Given the description of an element on the screen output the (x, y) to click on. 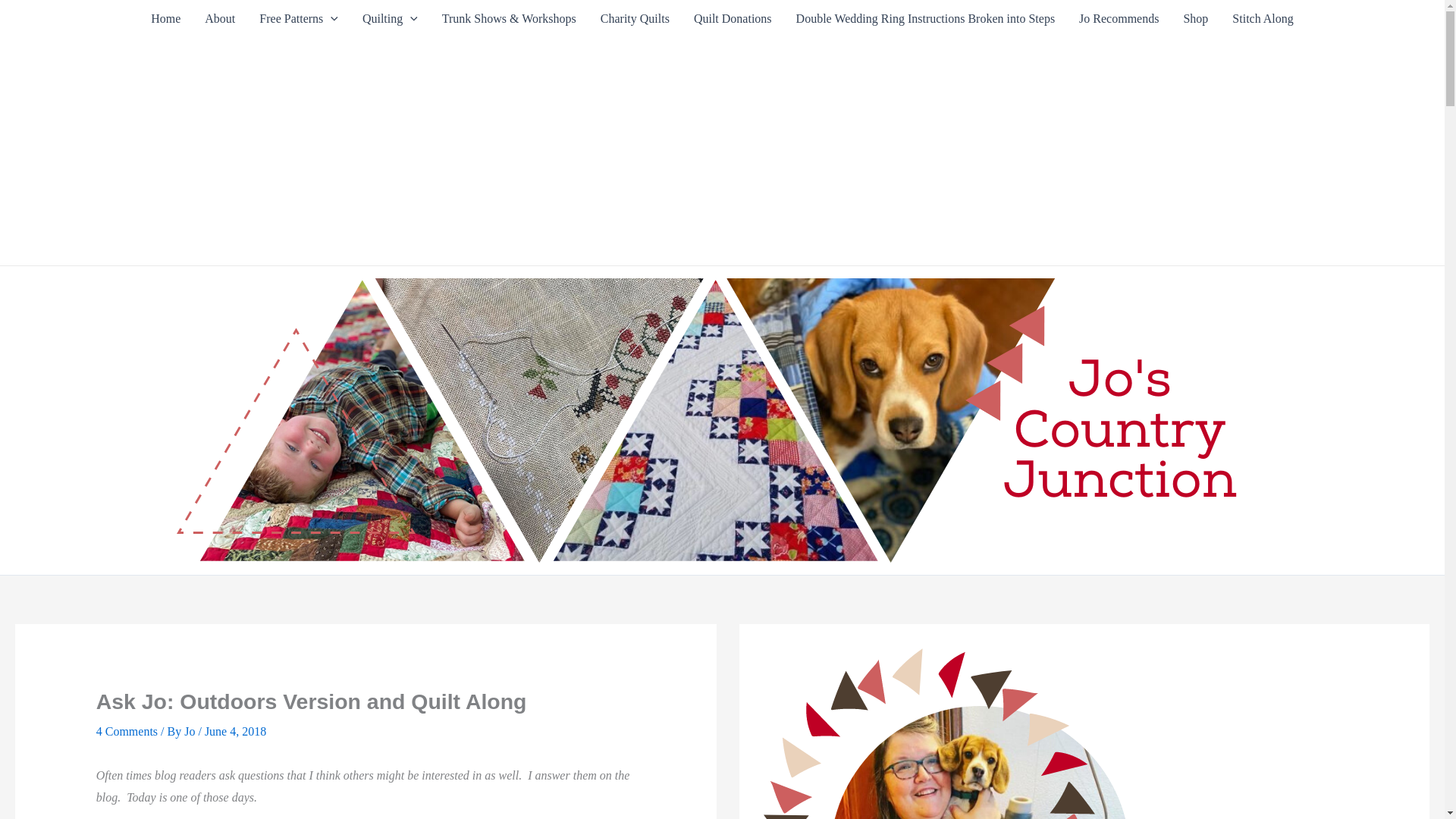
Quilting (389, 18)
View all posts by Jo (191, 730)
About (219, 18)
Charity Quilts (634, 18)
Free Patterns (298, 18)
Quilt Donations (732, 18)
Home (165, 18)
Quilts of 2012 (389, 18)
